Given the description of an element on the screen output the (x, y) to click on. 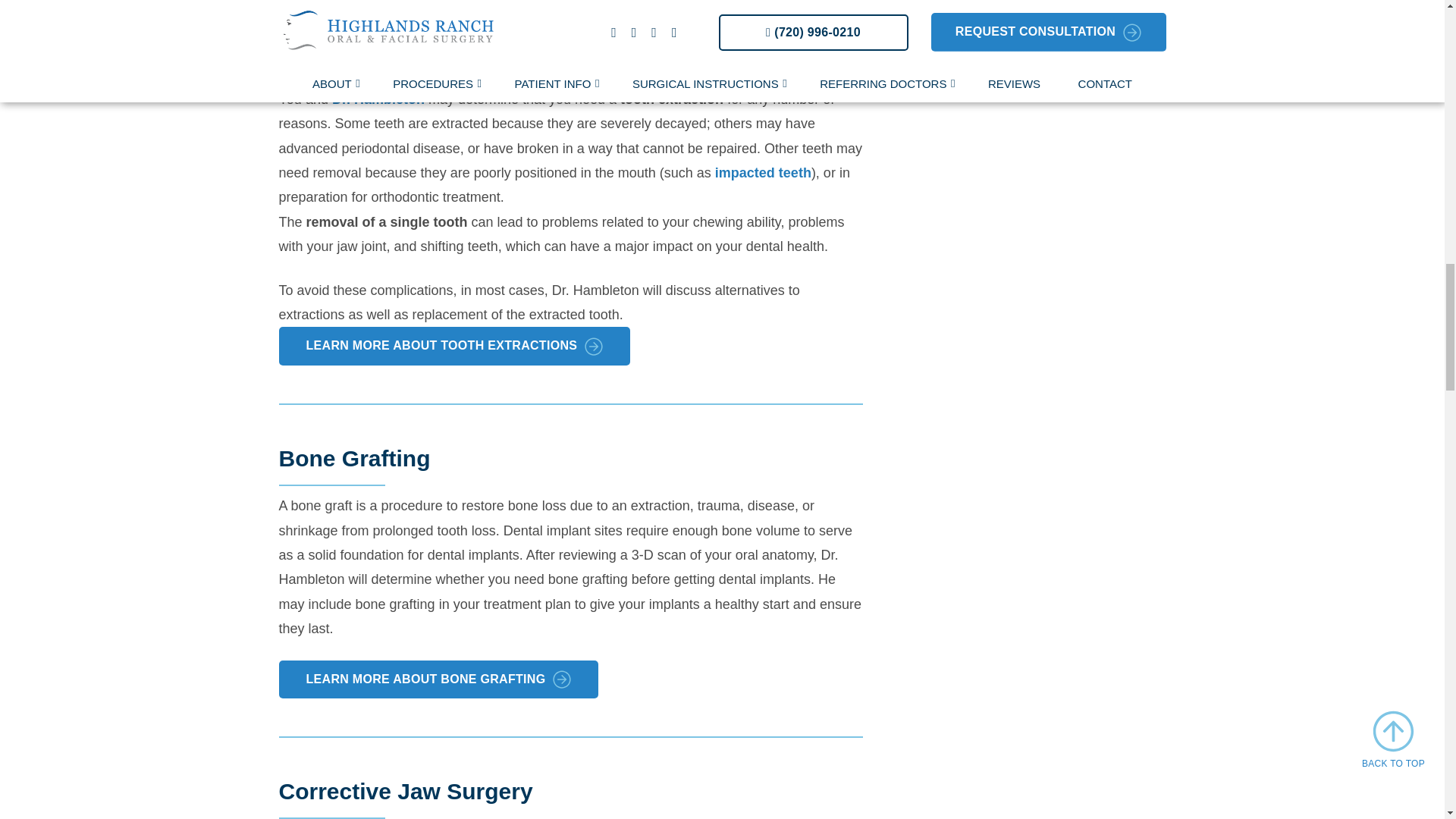
Ryan D. Hambleton, DMD (378, 99)
Exposure of Impacted Teeth (762, 172)
